Given the description of an element on the screen output the (x, y) to click on. 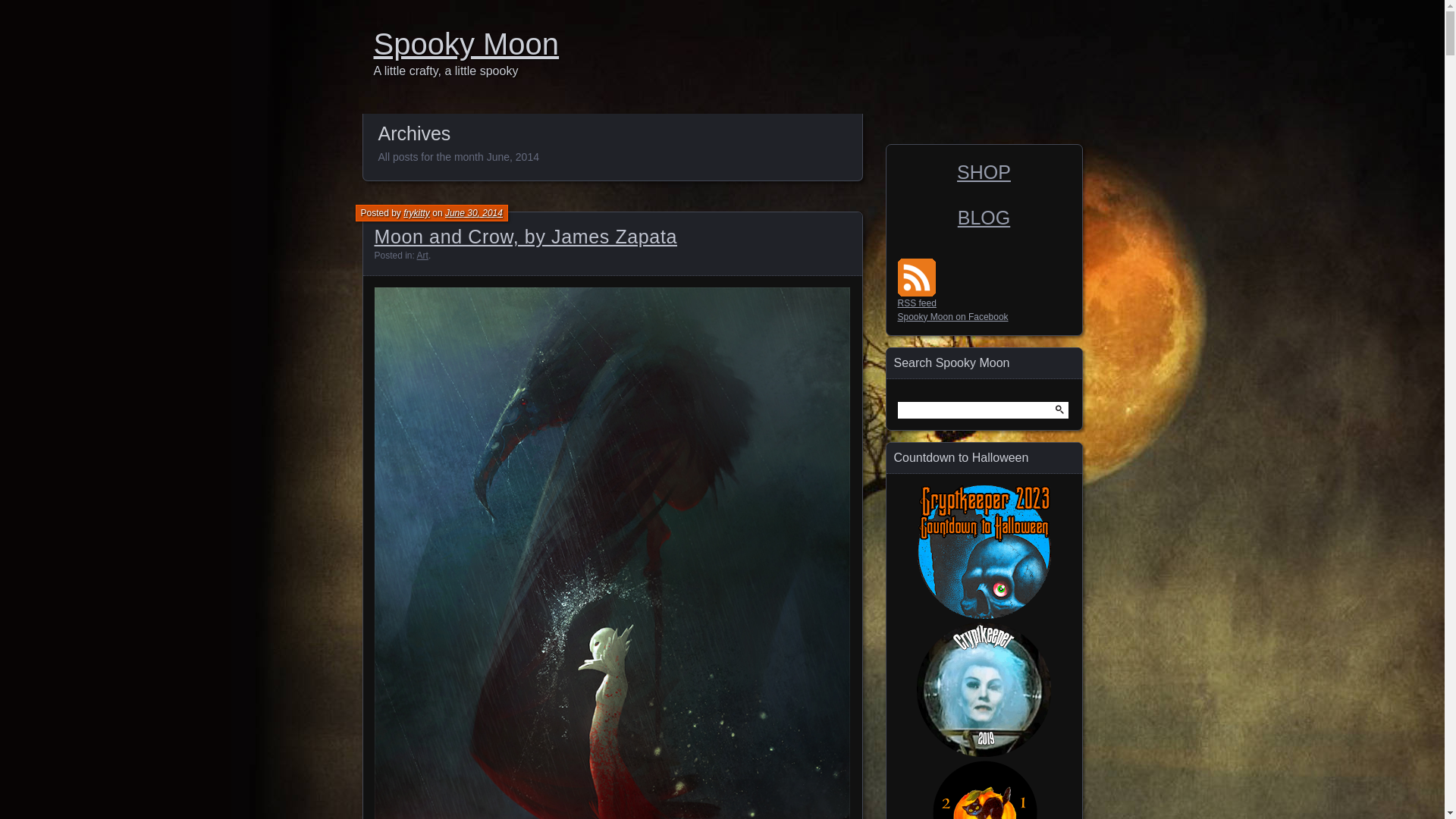
Art (422, 255)
View all posts by frykitty (416, 213)
Spooky Moon (726, 44)
frykitty (416, 213)
Moon and Crow, by James Zapata (526, 236)
June 30, 2014 (473, 213)
